Given the description of an element on the screen output the (x, y) to click on. 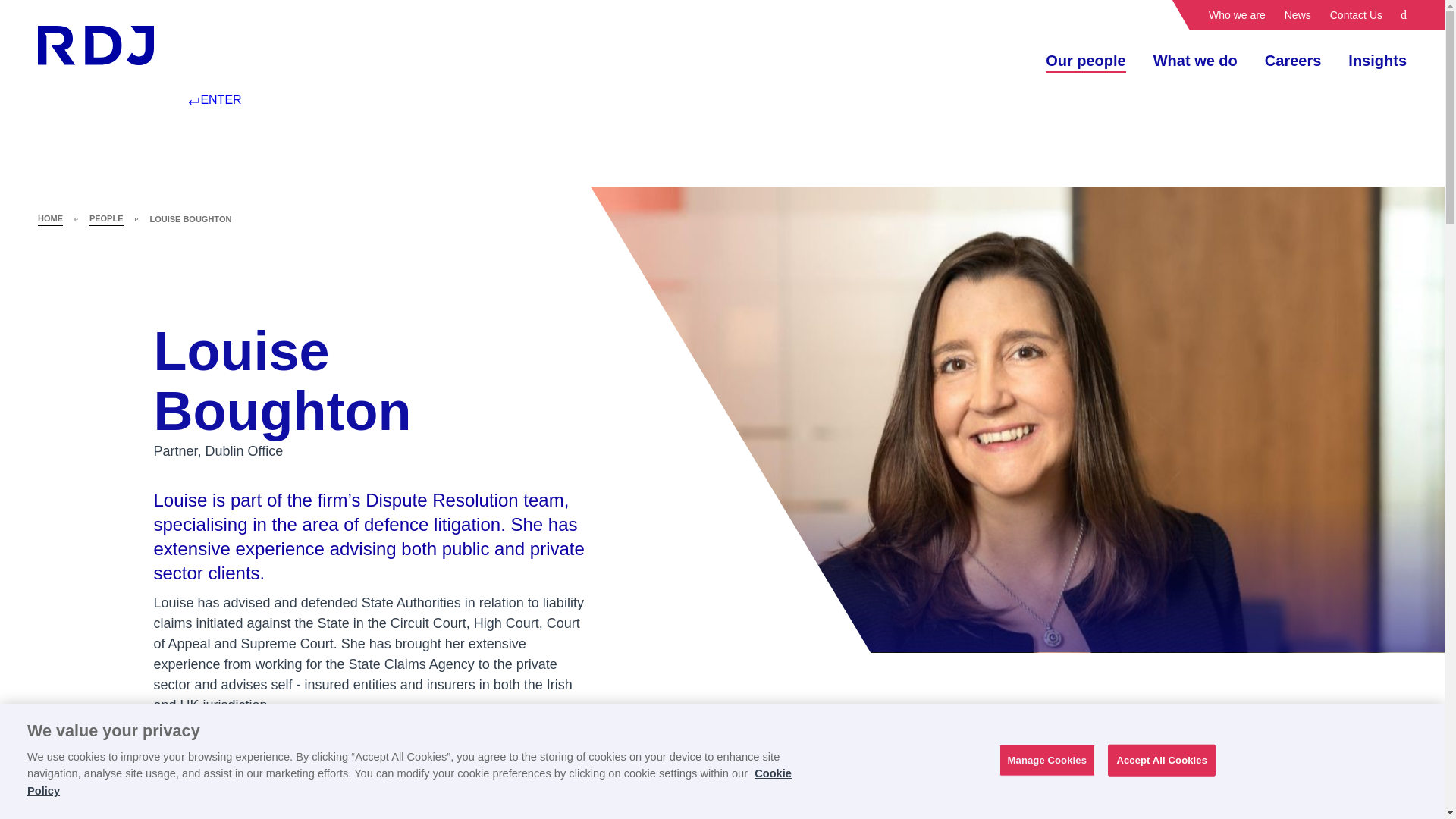
Download vCard (1238, 798)
News (1297, 15)
Careers (1293, 60)
Who we are (1236, 15)
Contact Us (1355, 15)
HOME (49, 219)
Print profile (1238, 818)
What we do (1195, 60)
PEOPLE (105, 219)
Email Louise (935, 818)
Insights (1377, 60)
Our people (1085, 60)
